Given the description of an element on the screen output the (x, y) to click on. 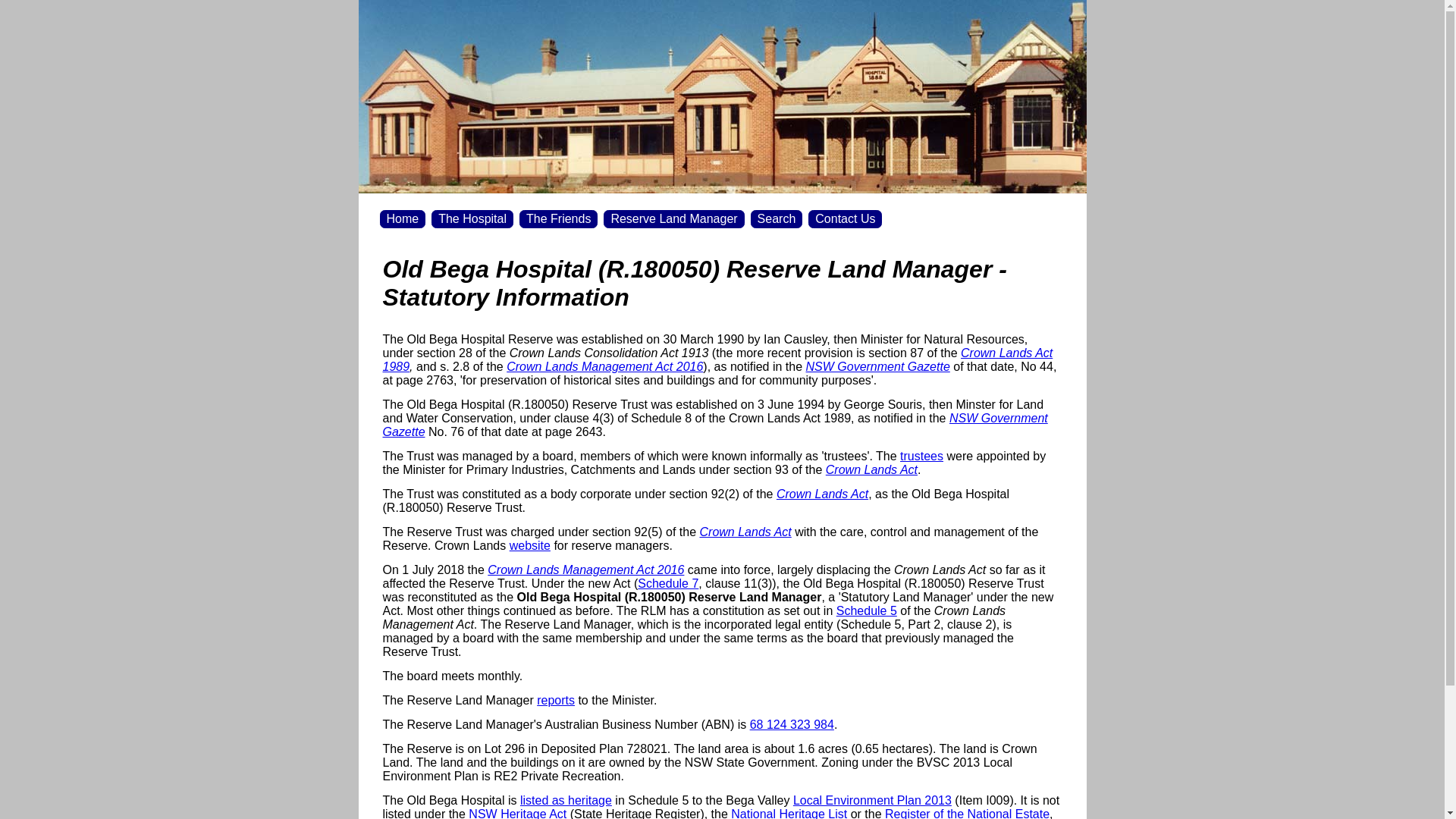
Schedule 7 Element type: text (667, 583)
trustees Element type: text (921, 455)
Home Element type: text (402, 219)
Crown Lands Management Act 2016 Element type: text (604, 366)
website Element type: text (529, 545)
Crown Lands Act Element type: text (822, 493)
Crown Lands Act Element type: text (744, 531)
Local Environment Plan 2013 Element type: text (872, 799)
Crown Lands Act Element type: text (871, 469)
Crown Lands Management Act 2016 Element type: text (585, 569)
NSW Government Gazette Element type: text (878, 366)
The Hospital Element type: text (472, 219)
NSW Government Gazette Element type: text (714, 424)
Crown Lands Act 1989 Element type: text (717, 359)
Schedule 5 Element type: text (866, 610)
The Friends Element type: text (558, 219)
Contact Us Element type: text (844, 219)
reports Element type: text (555, 699)
68 124 323 984 Element type: text (791, 724)
Search Element type: text (776, 219)
Reserve Land Manager Element type: text (673, 219)
listed as heritage Element type: text (565, 799)
